Given the description of an element on the screen output the (x, y) to click on. 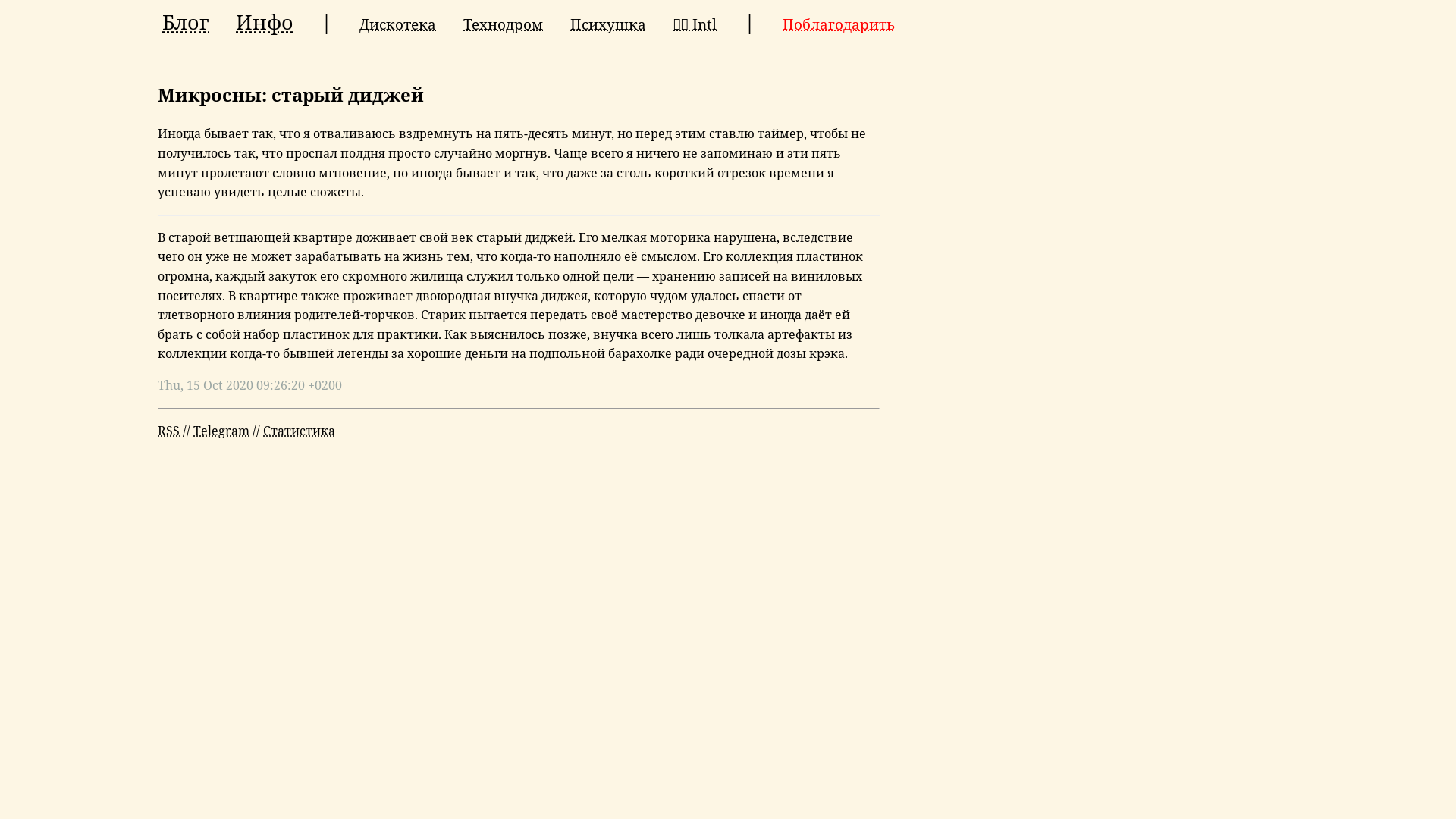
RSS Element type: text (168, 430)
Telegram Element type: text (221, 430)
